Given the description of an element on the screen output the (x, y) to click on. 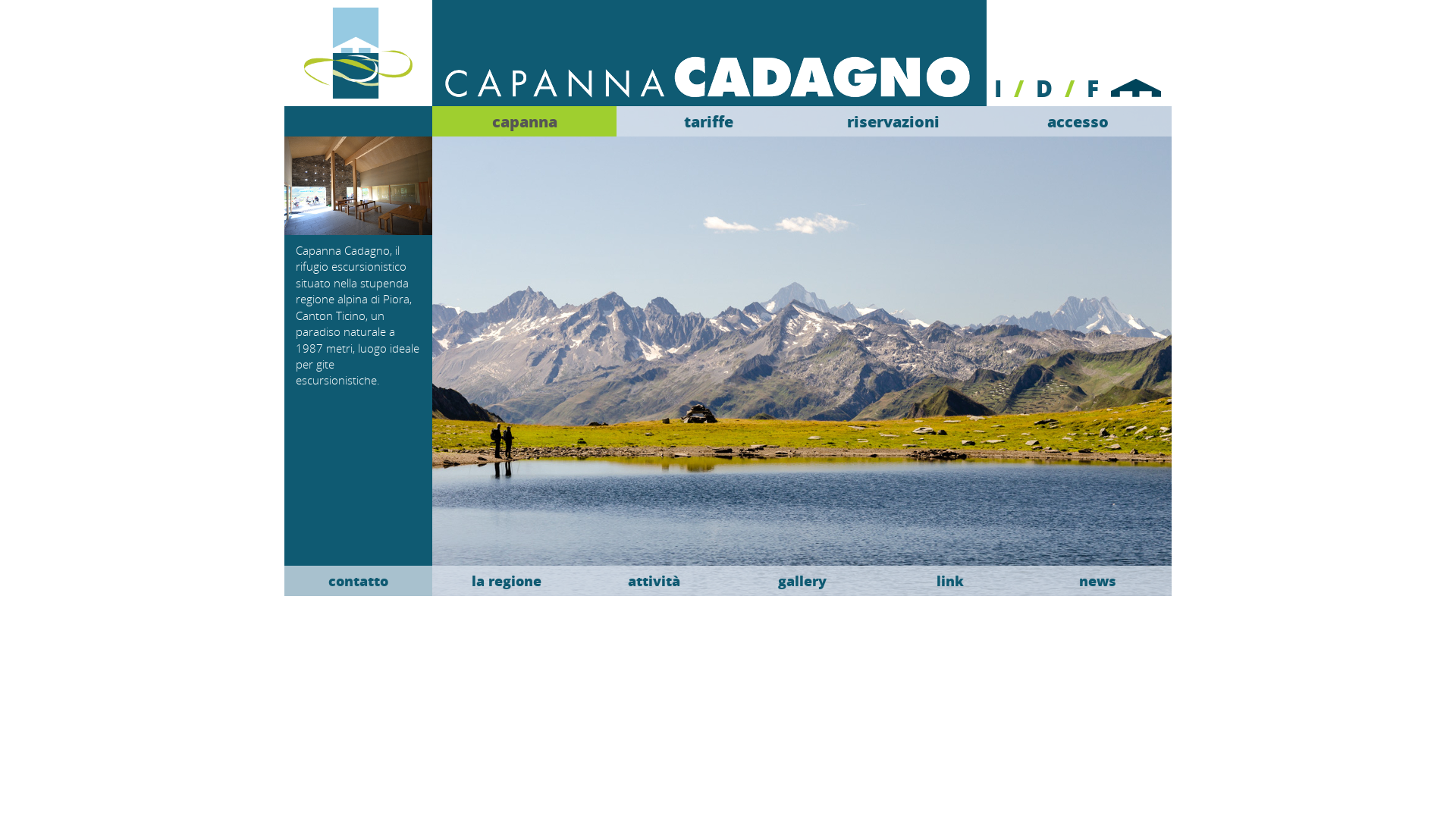
riservazioni Element type: text (892, 121)
tariffe Element type: text (708, 121)
F Element type: text (1092, 87)
gallery Element type: text (801, 580)
contatto Element type: text (358, 580)
D Element type: text (1043, 87)
link Element type: text (949, 580)
accesso Element type: text (1077, 121)
I Element type: text (997, 87)
capanna Element type: text (524, 121)
news Element type: text (1097, 580)
la regione Element type: text (506, 580)
